Given the description of an element on the screen output the (x, y) to click on. 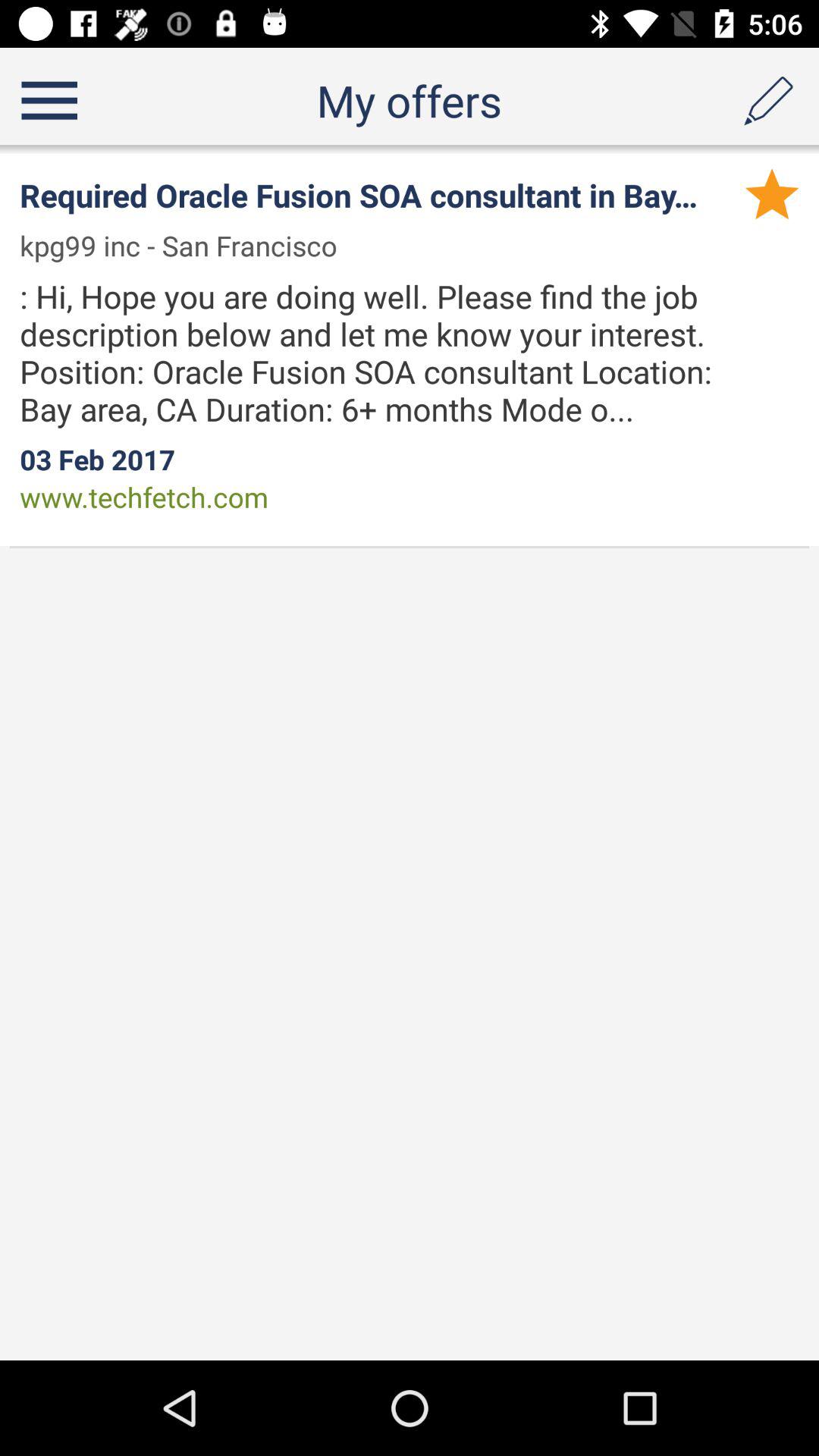
launch app to the right of kpg99 inc san icon (772, 193)
